Given the description of an element on the screen output the (x, y) to click on. 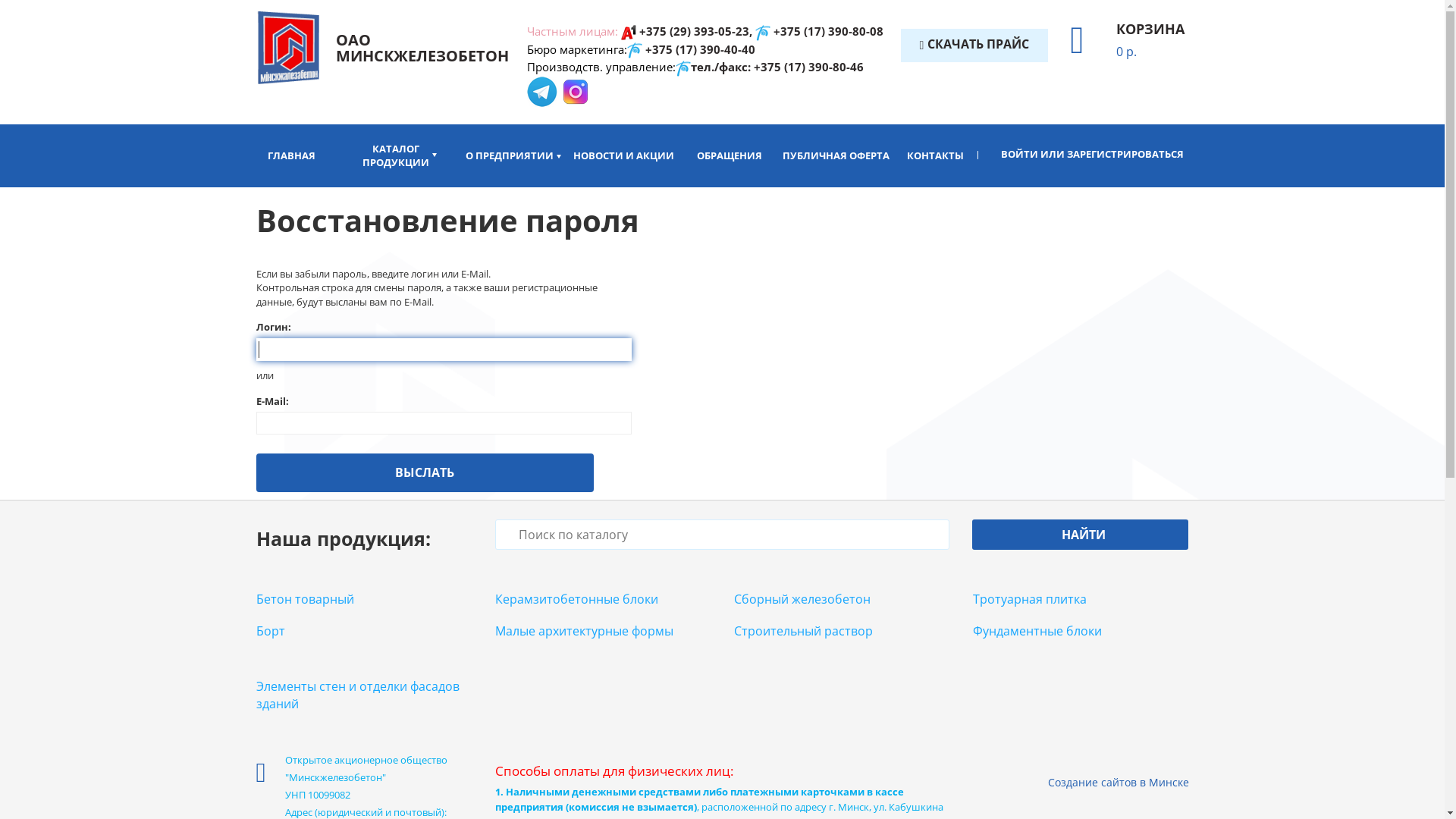
+375 (17) 390-80-08 Element type: text (828, 30)
+375 (29) 393-05-23, Element type: text (695, 30)
+375 (17) 390-40-40 Element type: text (700, 48)
A1 Element type: hover (628, 32)
